Given the description of an element on the screen output the (x, y) to click on. 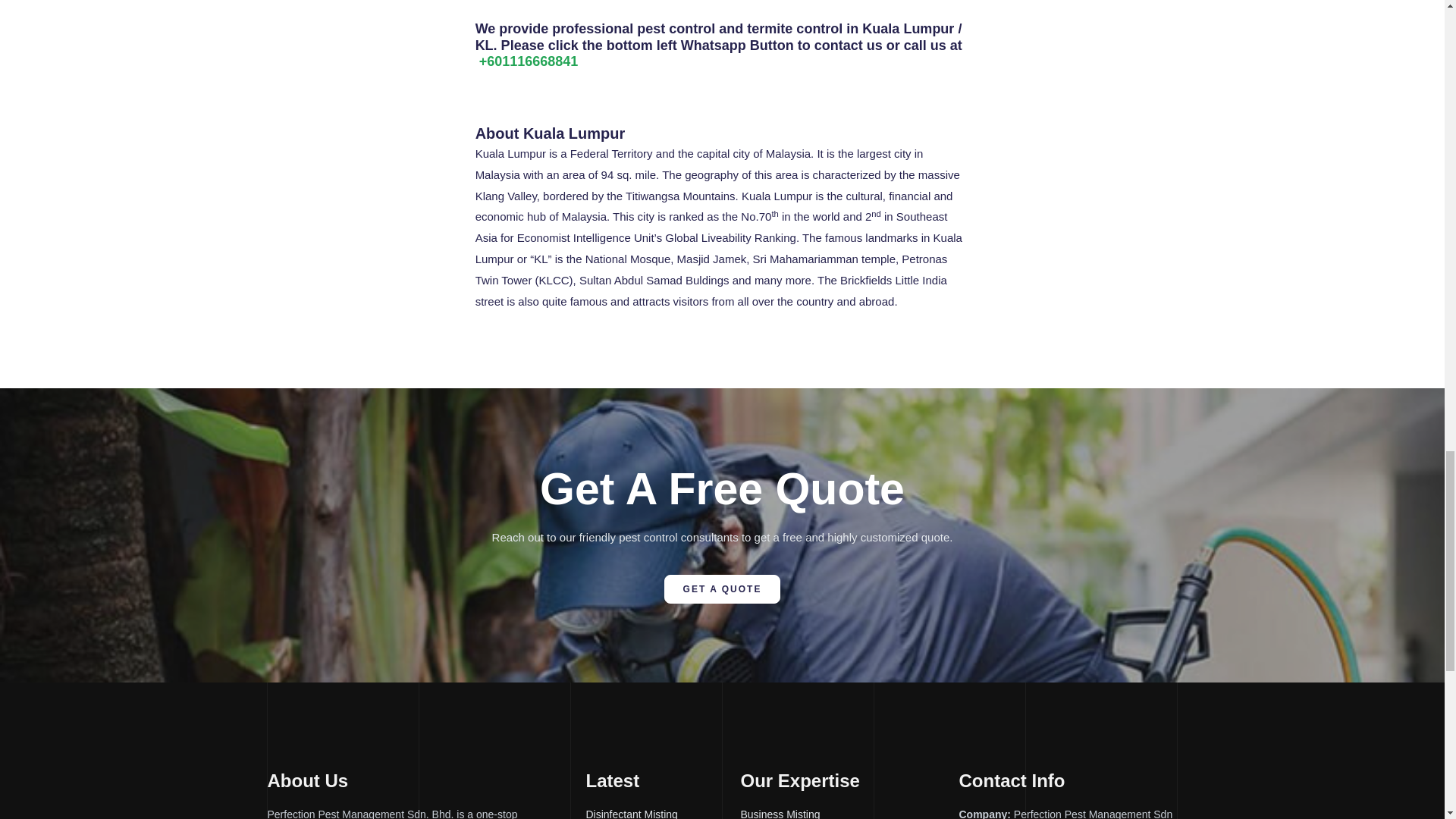
Disinfectant Misting (662, 812)
Business Misting (848, 812)
GET A QUOTE (721, 588)
